Given the description of an element on the screen output the (x, y) to click on. 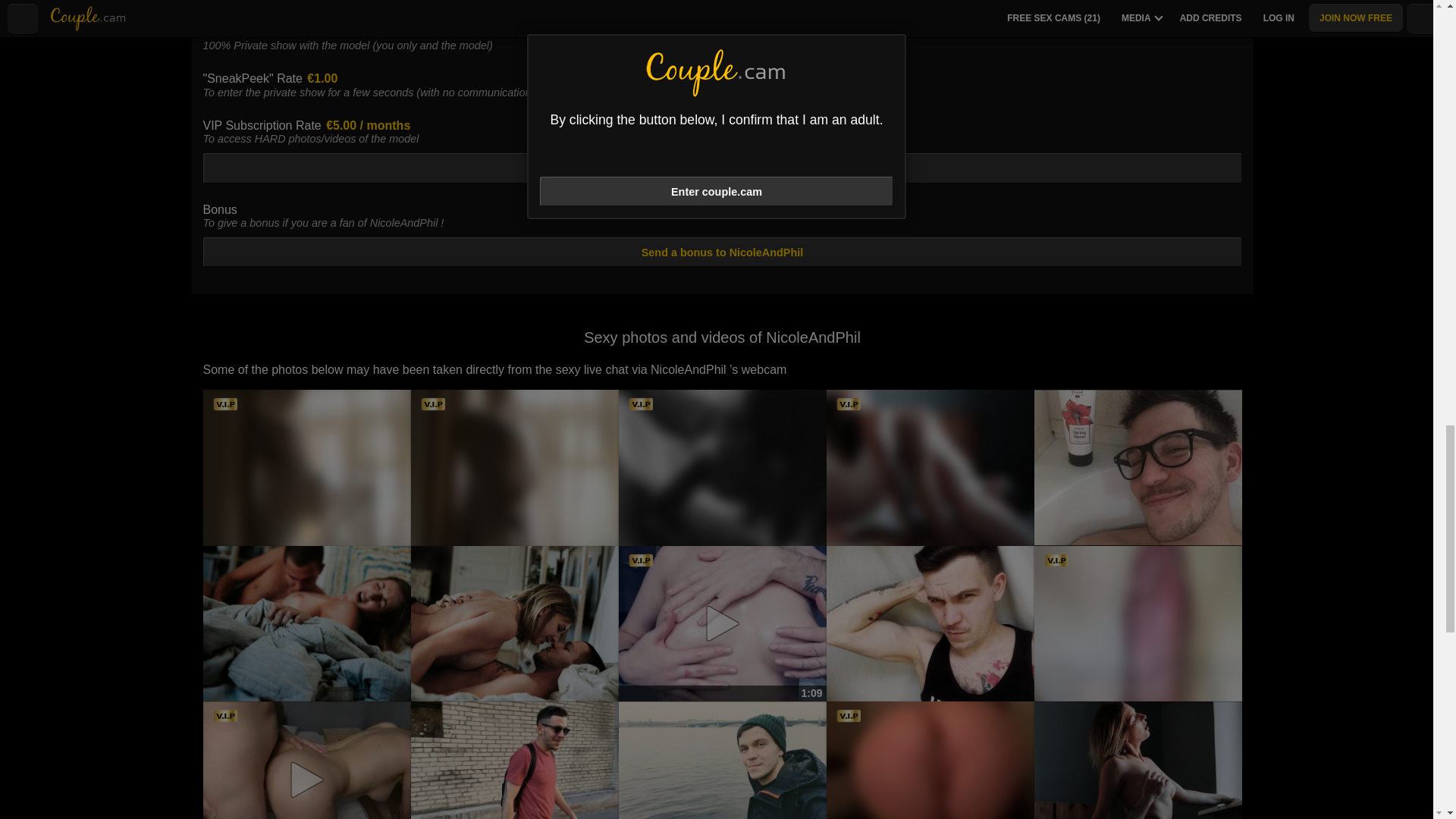
Send a bonus to NicoleAndPhil (722, 251)
1:09 (722, 623)
1:10 (306, 760)
I subscribe to VIP content (722, 167)
